Given the description of an element on the screen output the (x, y) to click on. 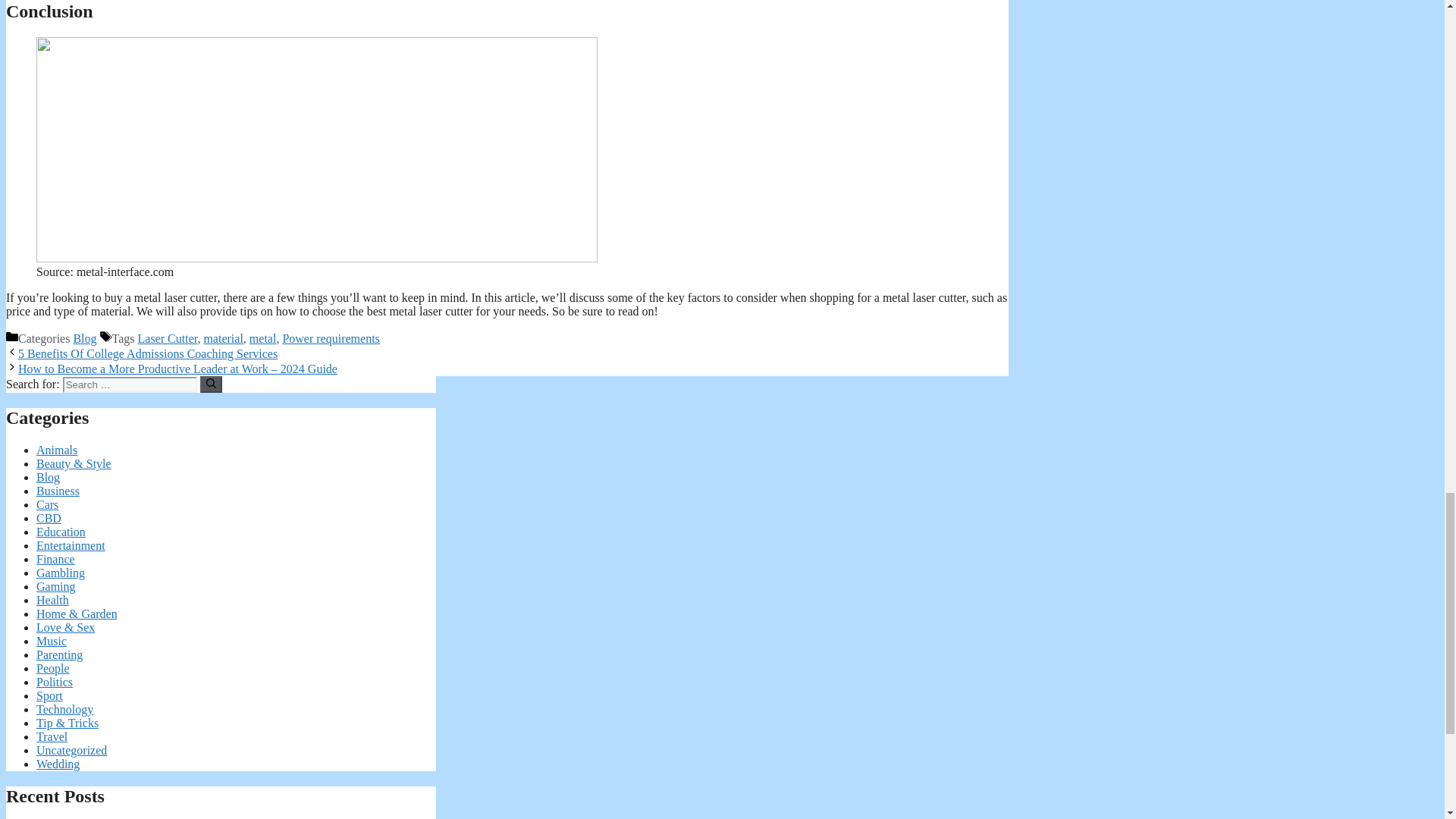
Entertainment (70, 545)
Gambling (60, 572)
Power requirements (330, 338)
Health (52, 599)
5 Benefits Of College Admissions Coaching Services (147, 353)
metal (262, 338)
Cars (47, 504)
Business (58, 490)
Finance (55, 558)
Animals (56, 449)
Blog (47, 477)
Blog (84, 338)
Gaming (55, 585)
Laser Cutter (168, 338)
material (223, 338)
